Given the description of an element on the screen output the (x, y) to click on. 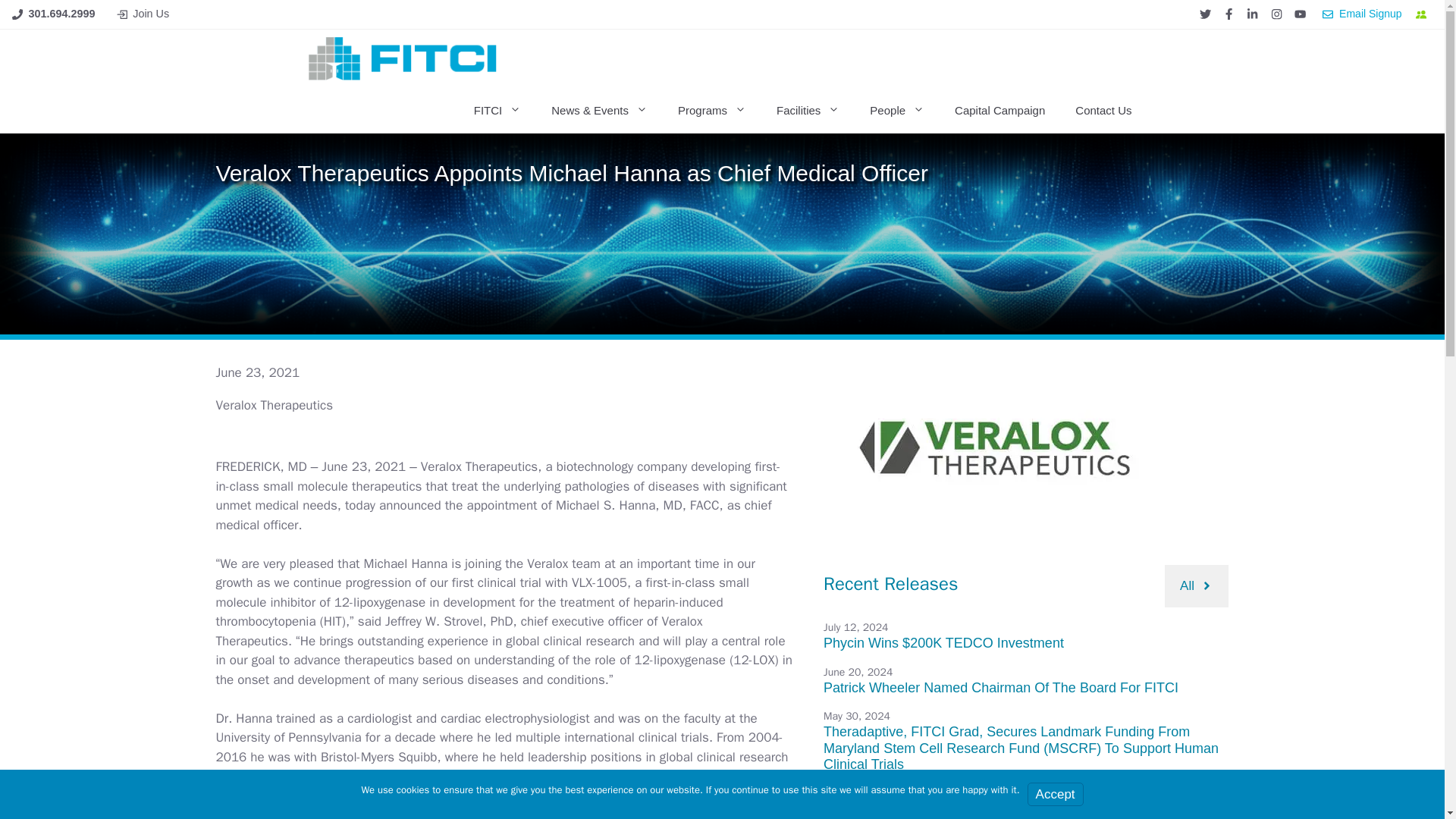
People (896, 110)
Join Us (150, 13)
All (1196, 586)
Patrick Wheeler Named Chairman Of The Board For FITCI (1000, 687)
Capital Campaign (999, 110)
Contact Us (1103, 110)
Email Signup (1361, 14)
FITCI (405, 58)
Programs (711, 110)
FITCI (497, 110)
Recent Releases (891, 583)
301.694.2999 (62, 13)
Facilities (807, 110)
